Given the description of an element on the screen output the (x, y) to click on. 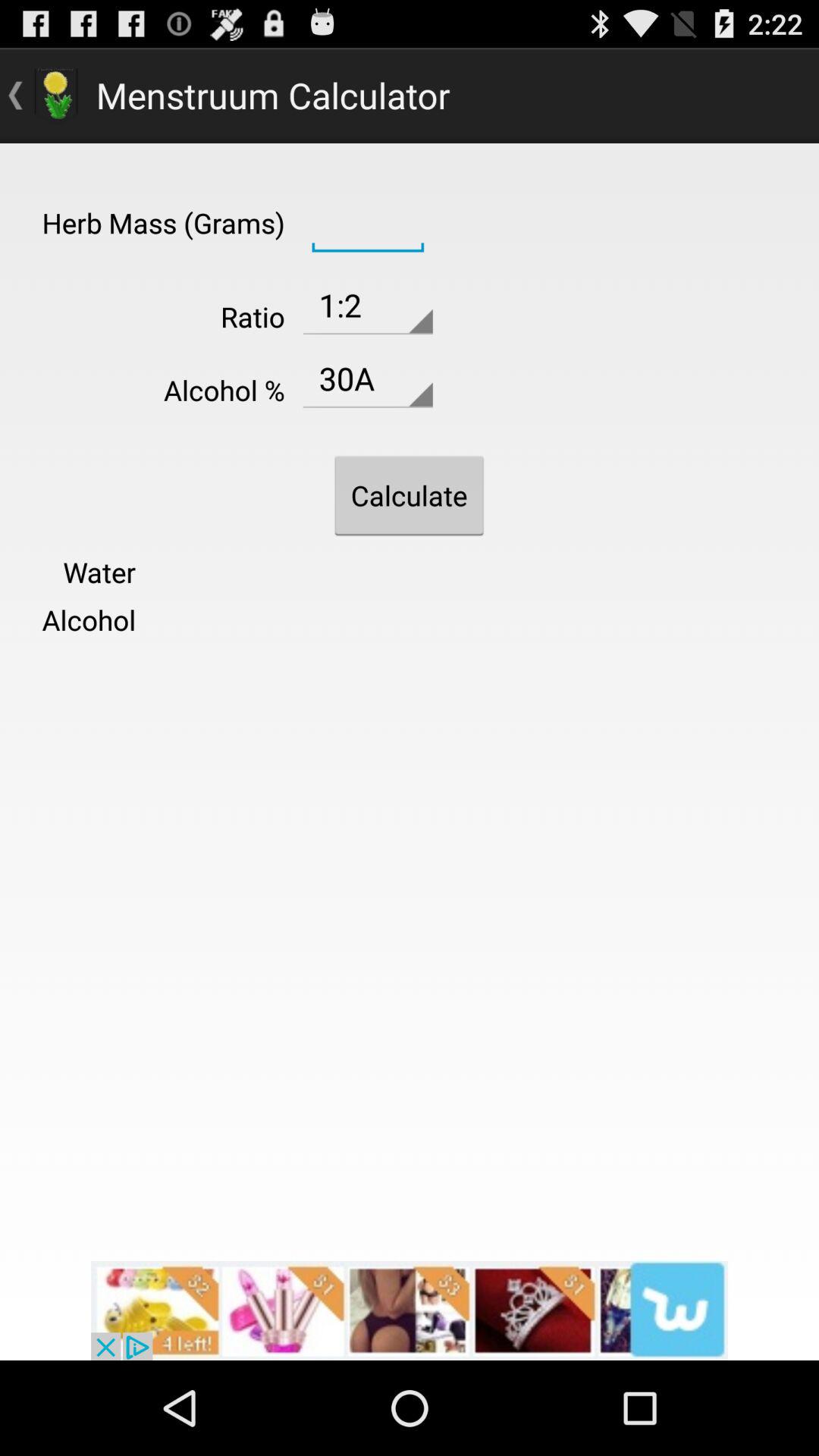
advertisement page (409, 1310)
